Given the description of an element on the screen output the (x, y) to click on. 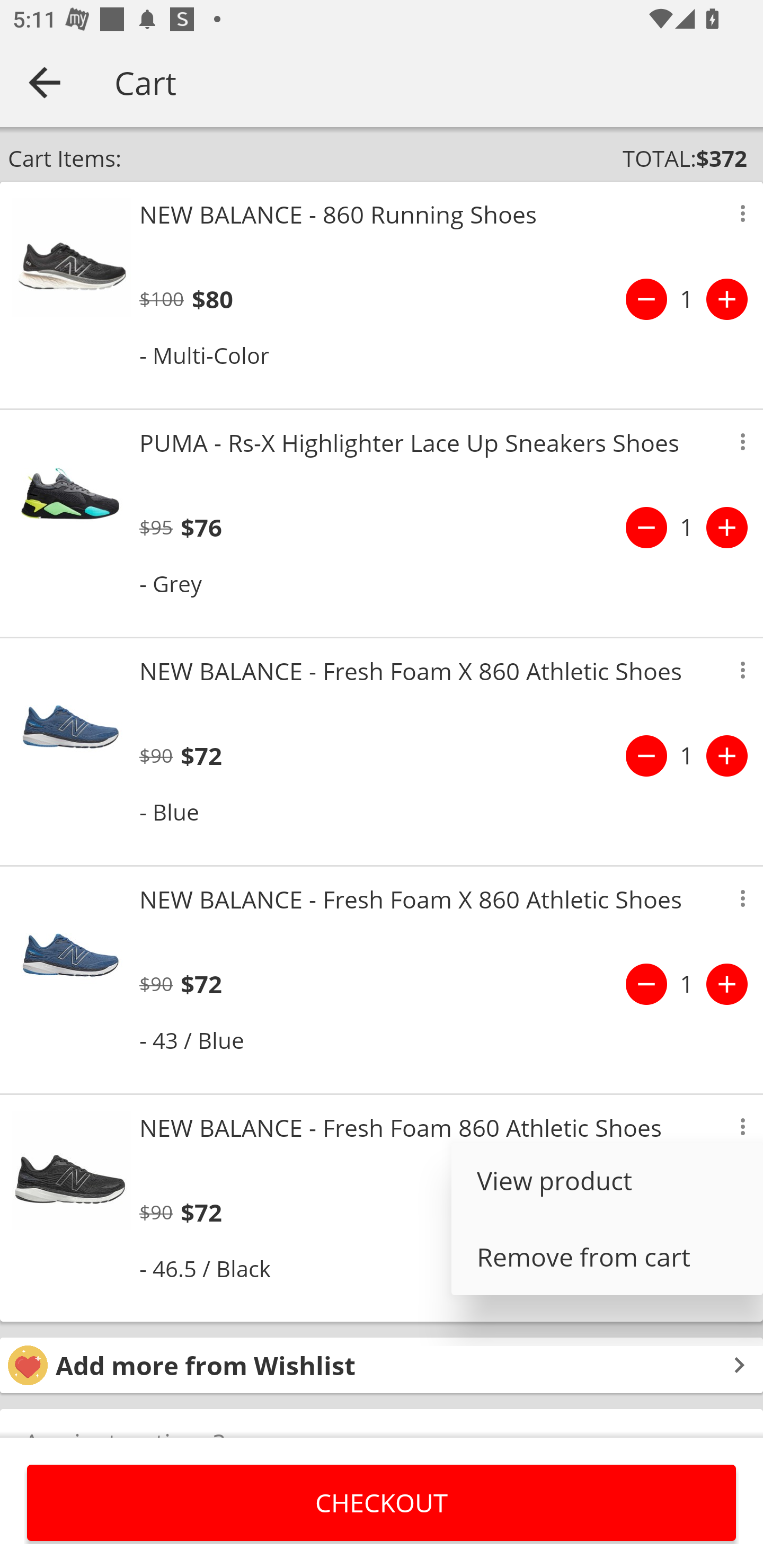
View product (607, 1180)
Remove from cart (607, 1256)
